Given the description of an element on the screen output the (x, y) to click on. 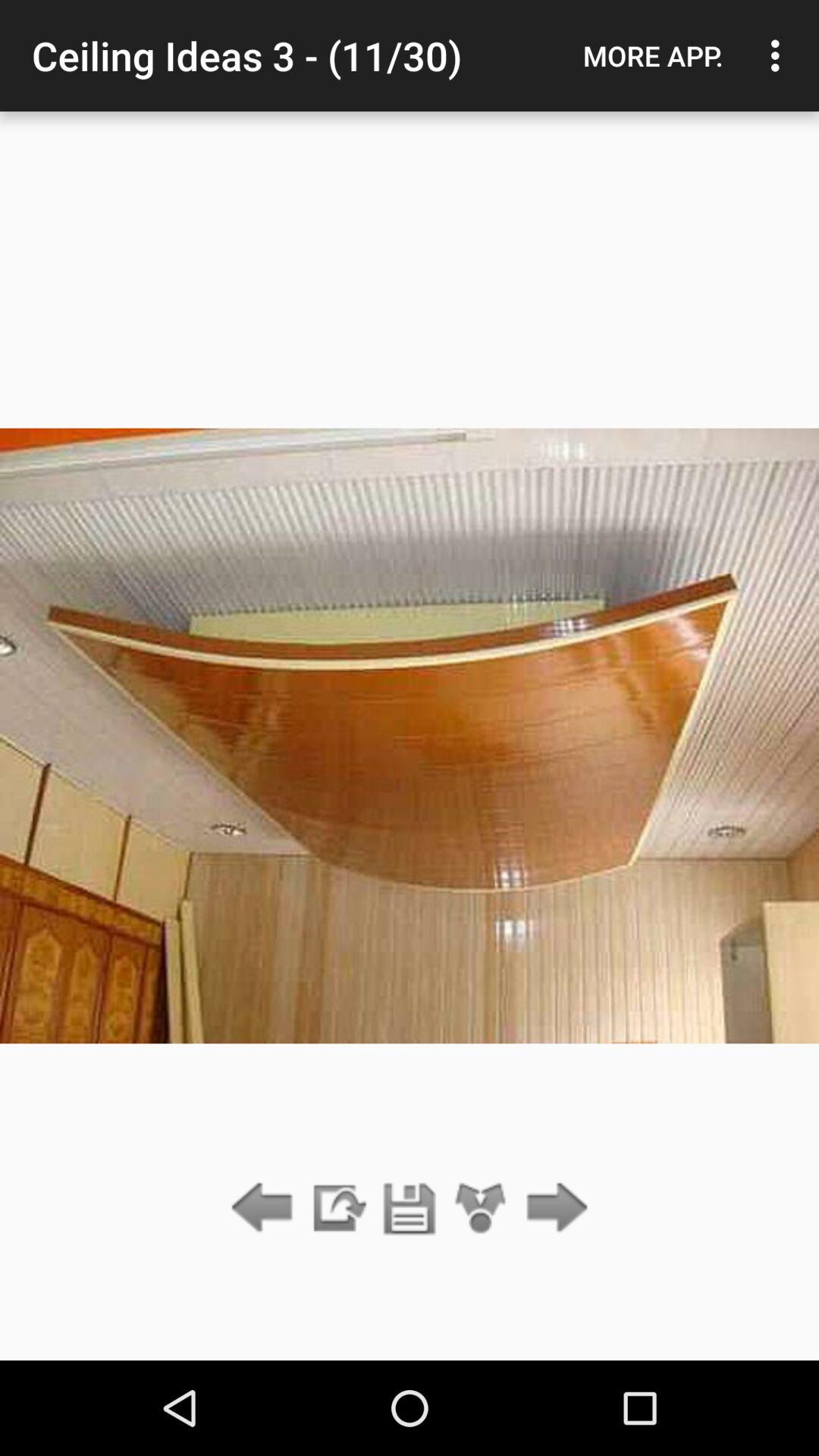
select icon to the right of the more app. icon (779, 55)
